Given the description of an element on the screen output the (x, y) to click on. 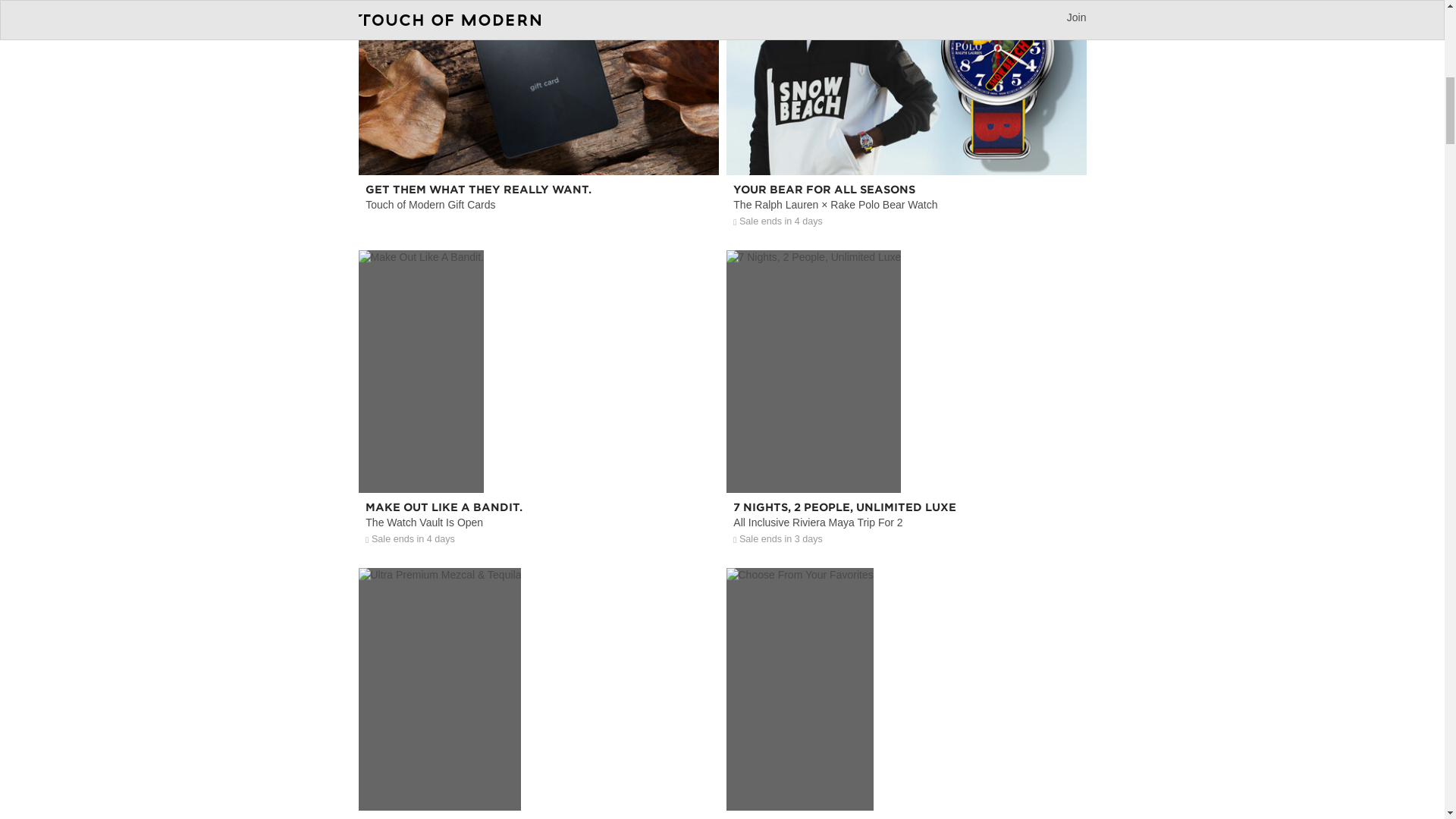
Your Bear For All Seasons (906, 142)
7 Nights, 2 People, Unlimited Luxe (537, 142)
Get them what they really want. (906, 460)
Choose From Your Favorites (537, 142)
Make Out Like A Bandit. (906, 750)
